Given the description of an element on the screen output the (x, y) to click on. 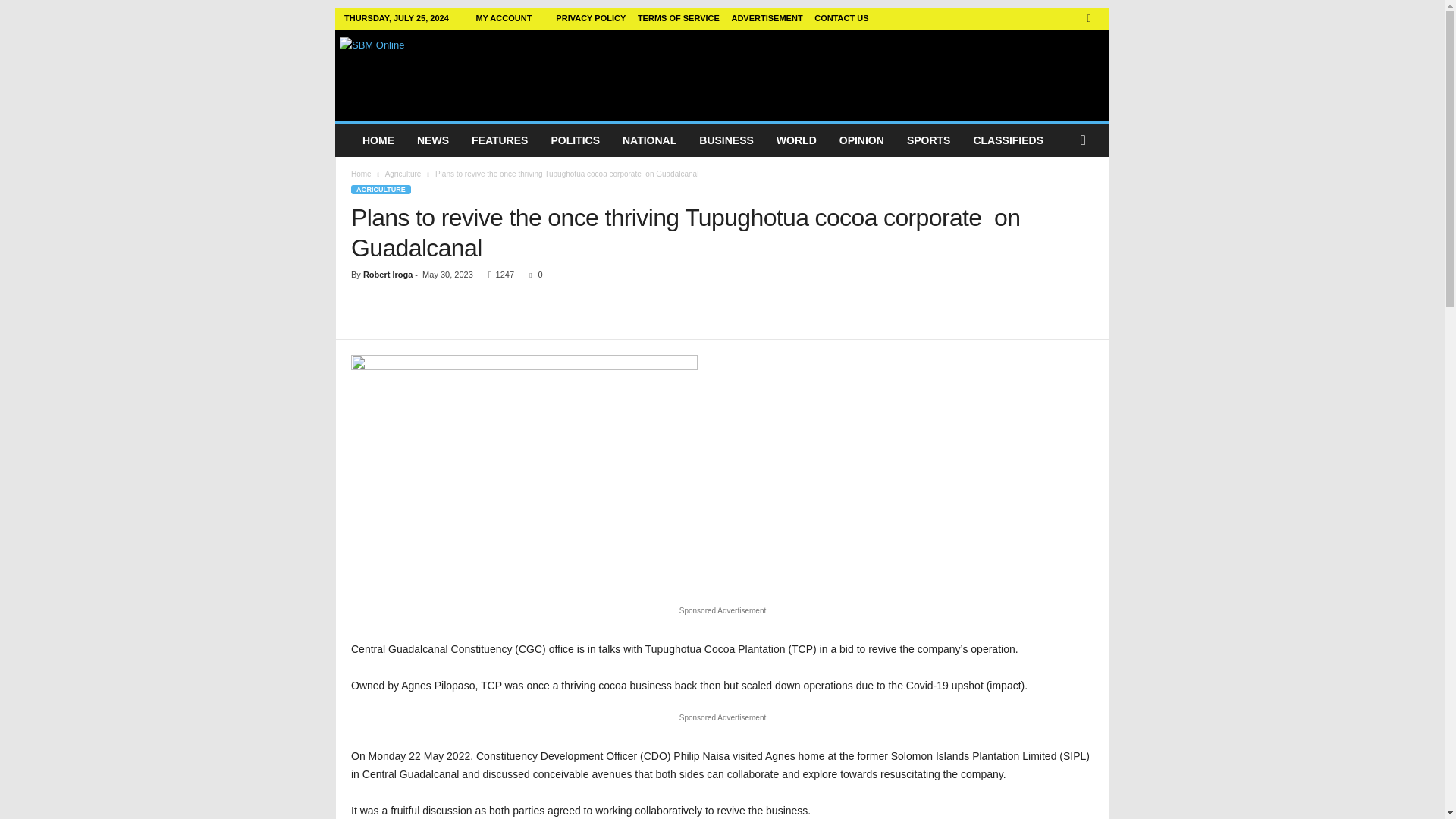
Facebook (1088, 18)
FEATURES (499, 140)
OPINION (861, 140)
ADVERTISEMENT (766, 17)
PRIVACY POLICY (591, 17)
Agriculture (403, 173)
Solomon Business Magazine (442, 70)
NATIONAL (649, 140)
Screen Shot 2023-05-30 at 19.39.43 (523, 471)
BUSINESS (726, 140)
TERMS OF SERVICE (678, 17)
CONTACT US (840, 17)
POLITICS (574, 140)
HOME (378, 140)
